Given the description of an element on the screen output the (x, y) to click on. 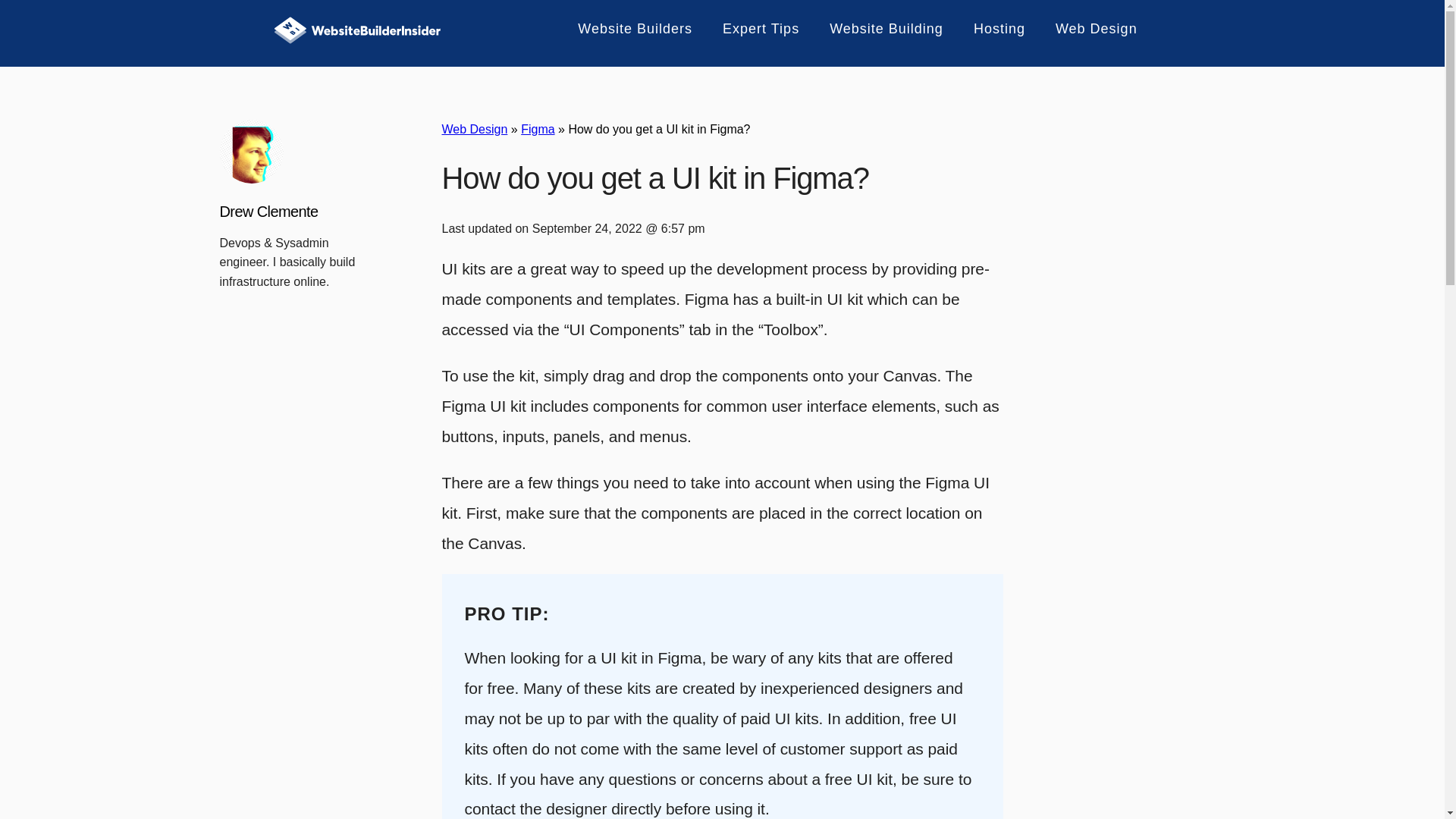
Expert Tips (751, 28)
Web Design (473, 128)
Website Builders (625, 28)
Website Building (877, 28)
Hosting (989, 28)
Web Design (1086, 28)
Figma (537, 128)
